Given the description of an element on the screen output the (x, y) to click on. 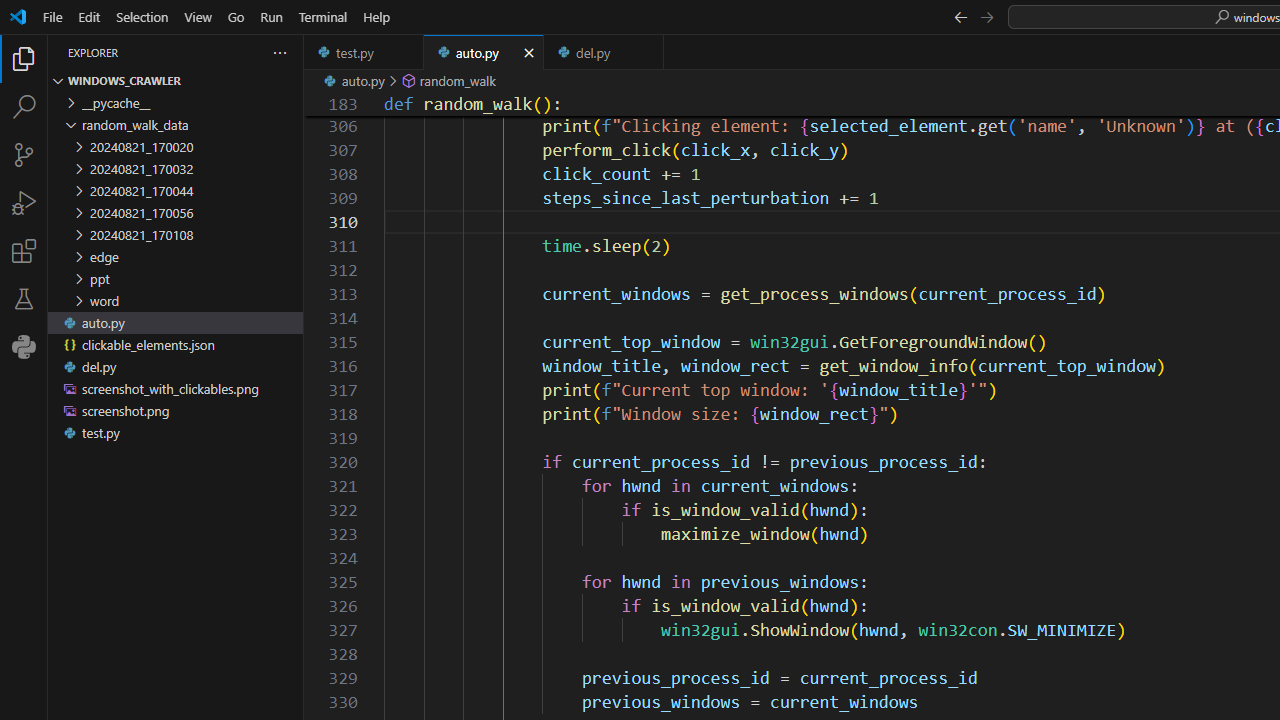
Source Control (Ctrl+Shift+G) (24, 155)
Views and More Actions... (279, 52)
Explorer (Ctrl+Shift+E) (24, 58)
Python (24, 346)
Edit (89, 16)
Terminal (322, 16)
Go Back (Alt+LeftArrow) (960, 16)
Tab actions (648, 52)
Run (271, 16)
Go Forward (Alt+RightArrow) (986, 16)
Run and Debug (Ctrl+Shift+D) (24, 202)
